Given the description of an element on the screen output the (x, y) to click on. 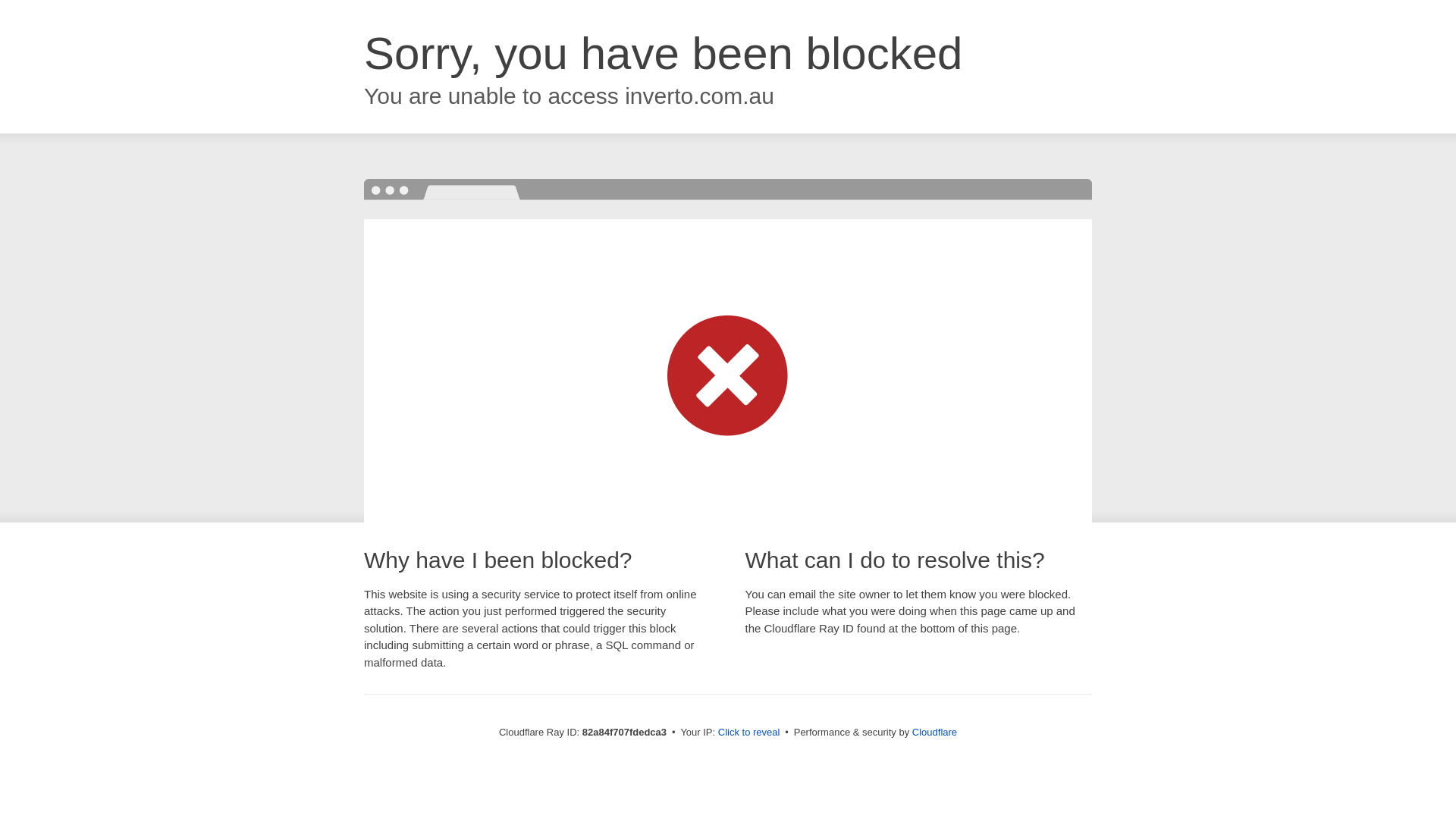
Cloudflare Element type: text (934, 731)
Click to reveal Element type: text (749, 732)
